Given the description of an element on the screen output the (x, y) to click on. 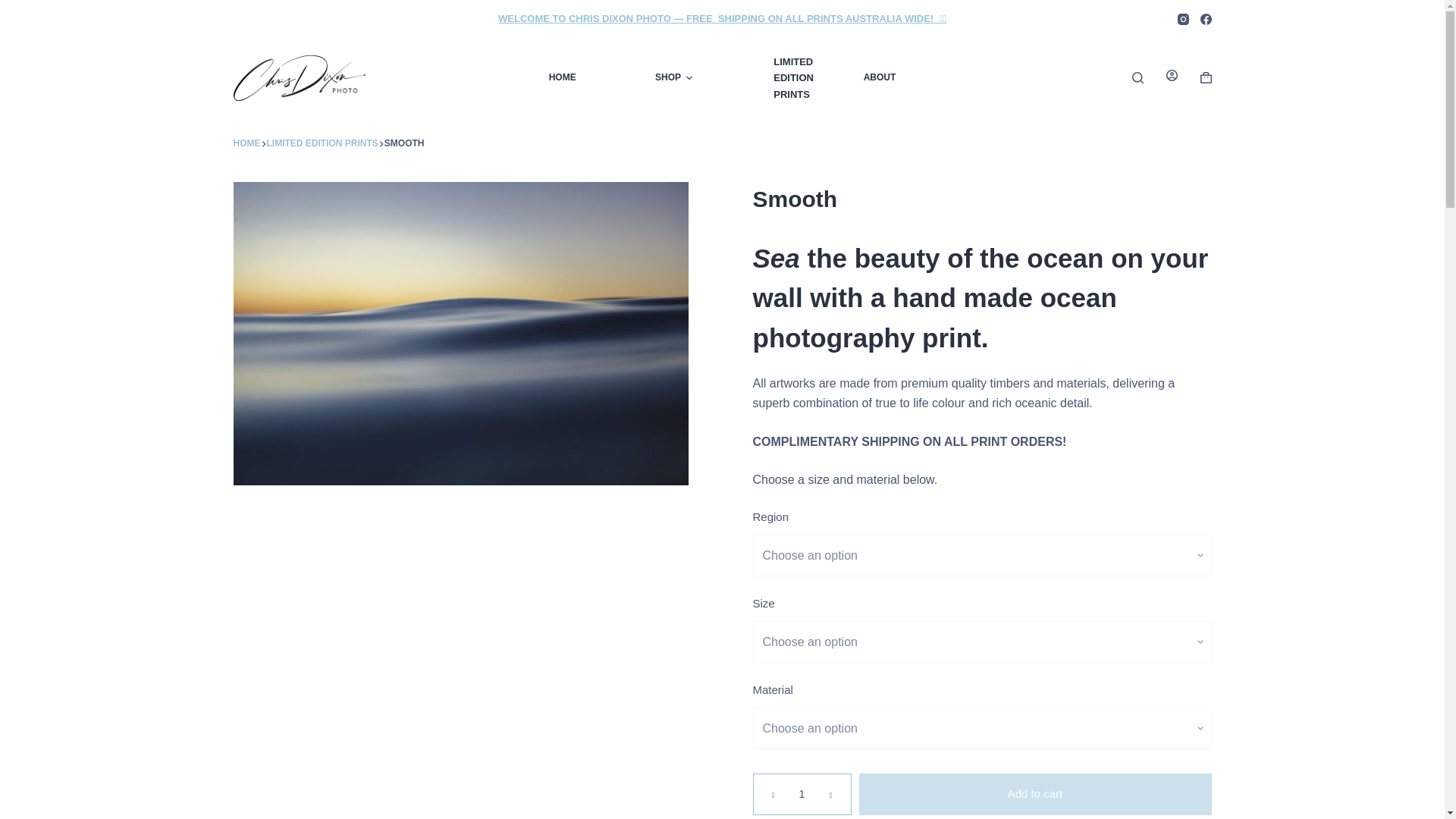
Skip to content (15, 7)
1 (801, 793)
LIMITED EDITION PRINTS (797, 77)
SHOP (673, 77)
HOME (246, 143)
Add to cart (1035, 793)
Shopping cart (1205, 77)
ABOUT (880, 77)
LIMITED EDITION PRINTS (322, 143)
